Given the description of an element on the screen output the (x, y) to click on. 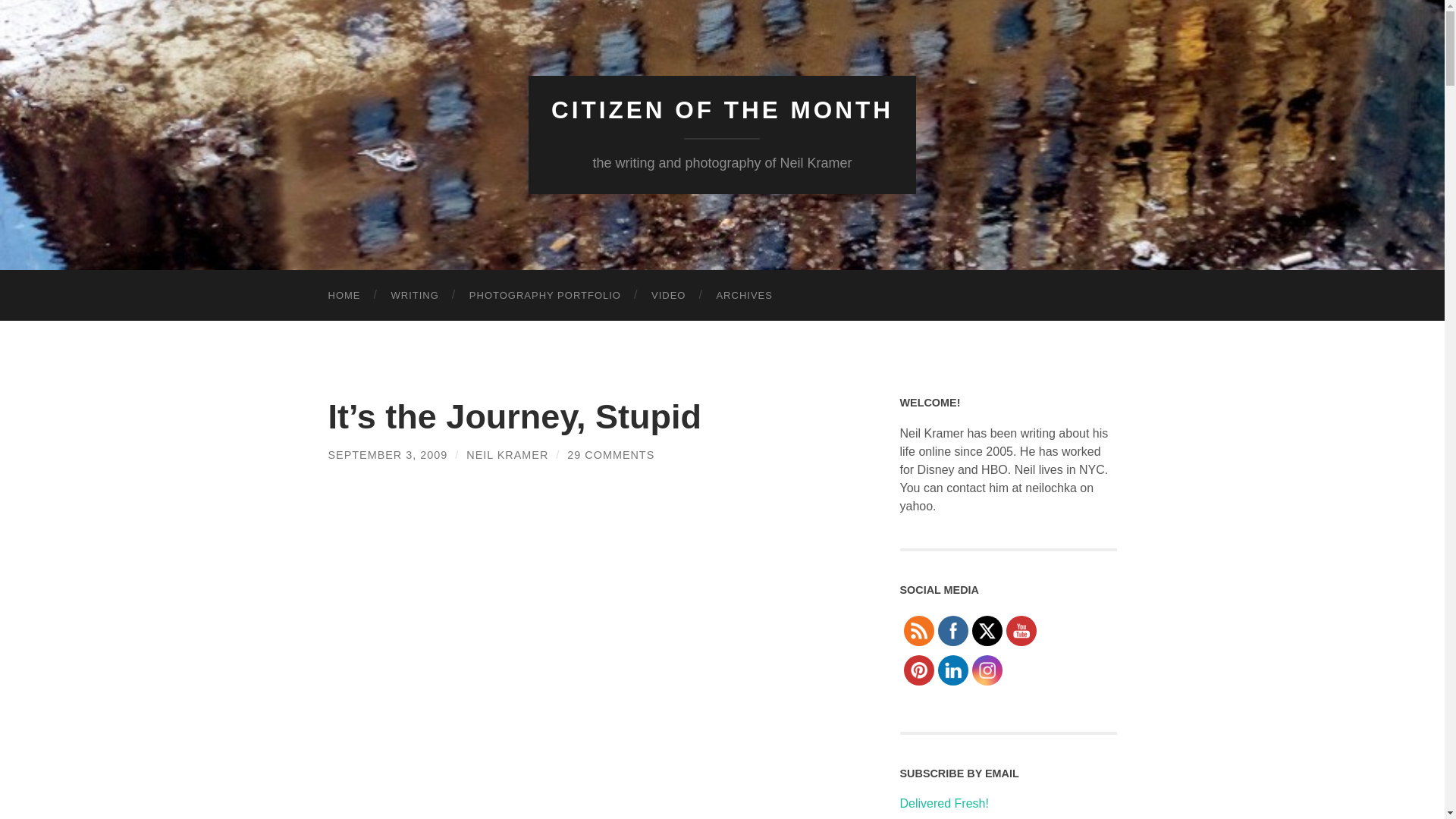
PHOTOGRAPHY PORTFOLIO (545, 295)
NEIL KRAMER (506, 454)
29 COMMENTS (610, 454)
VIDEO (668, 295)
Posts by Neil Kramer (506, 454)
CITIZEN OF THE MONTH (722, 109)
Best Writing (414, 295)
WRITING (414, 295)
SEPTEMBER 3, 2009 (386, 454)
ARCHIVES (743, 295)
HOME (344, 295)
